Given the description of an element on the screen output the (x, y) to click on. 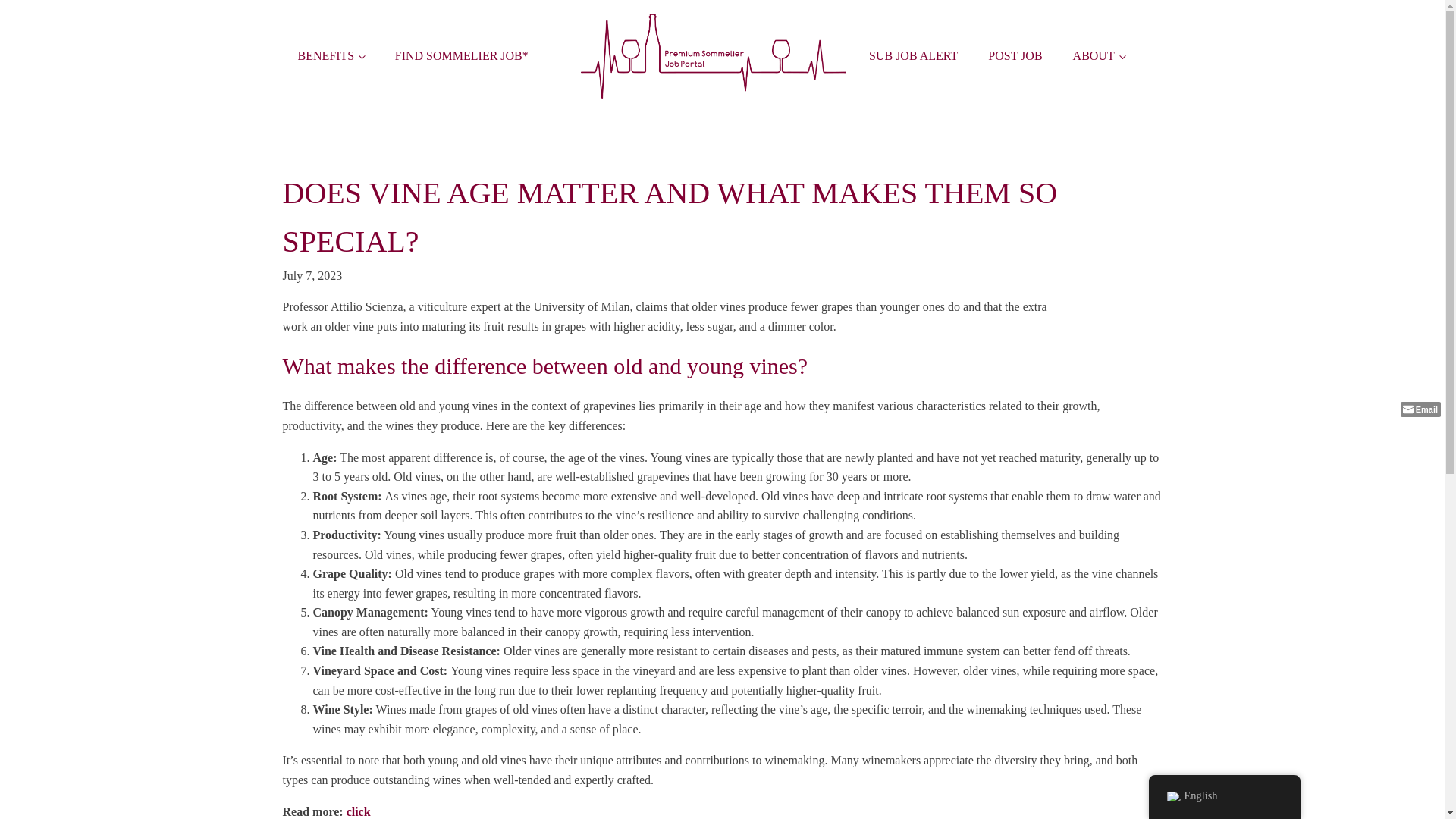
POST JOB (1014, 56)
click (358, 811)
ABOUT (1099, 56)
English (1172, 795)
SUB JOB ALERT (912, 56)
BENEFITS (330, 56)
Email (1420, 409)
